Given the description of an element on the screen output the (x, y) to click on. 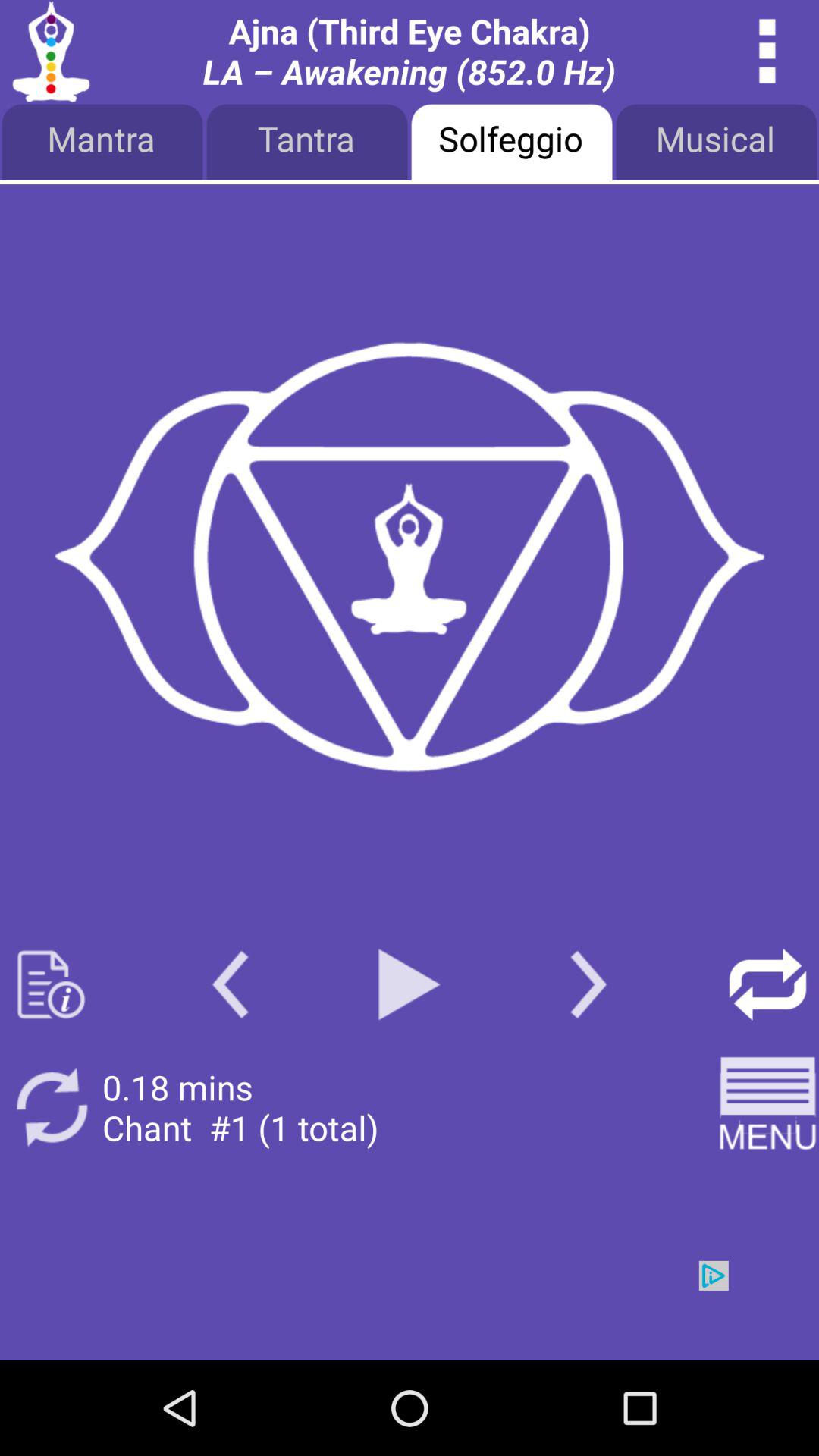
paly (409, 984)
